Given the description of an element on the screen output the (x, y) to click on. 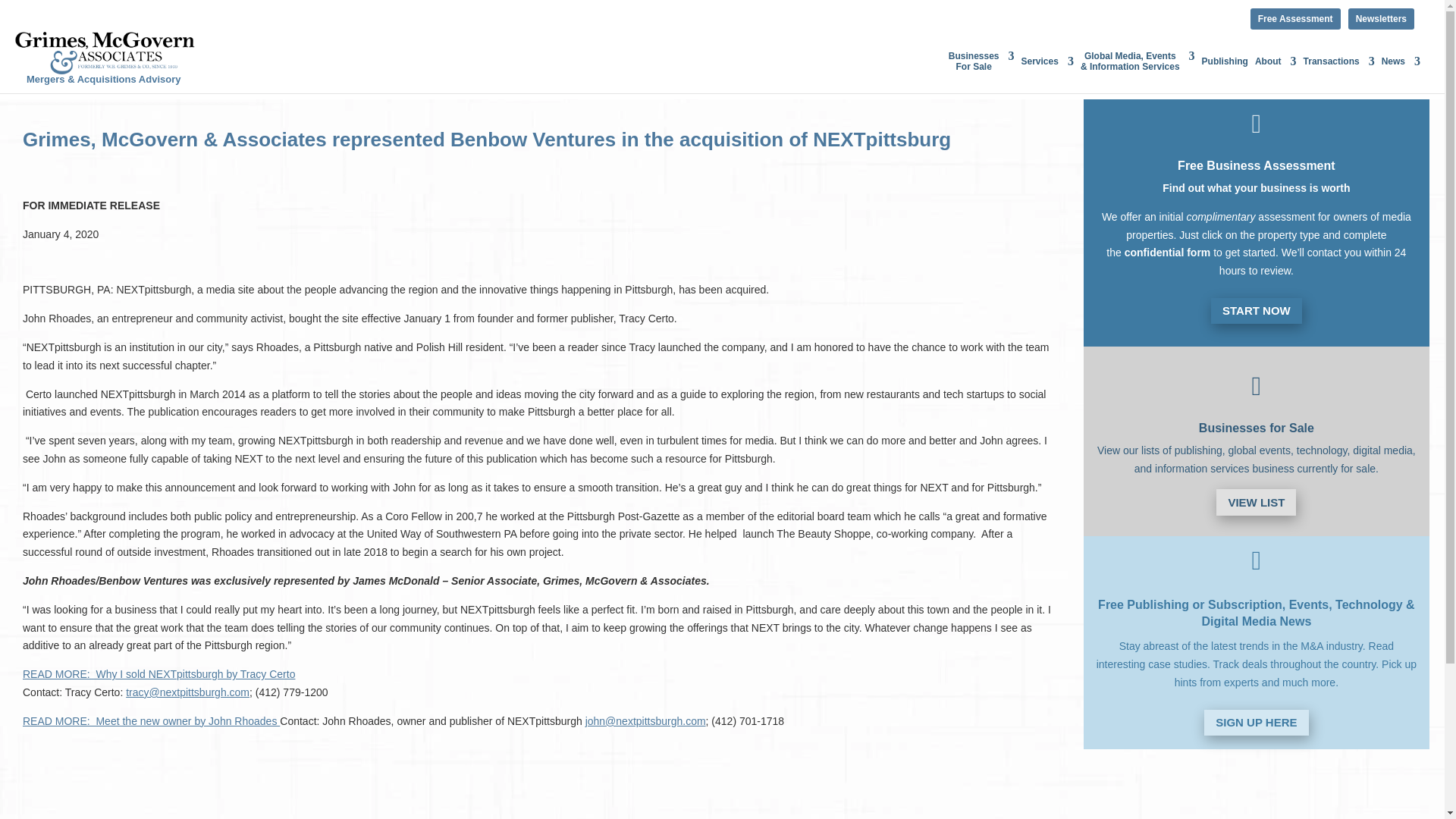
Publishing (1224, 71)
Transactions (1338, 71)
News (1401, 71)
About (1276, 71)
Free Assessment (1295, 18)
Newsletters (1380, 18)
Services (1046, 71)
